Given the description of an element on the screen output the (x, y) to click on. 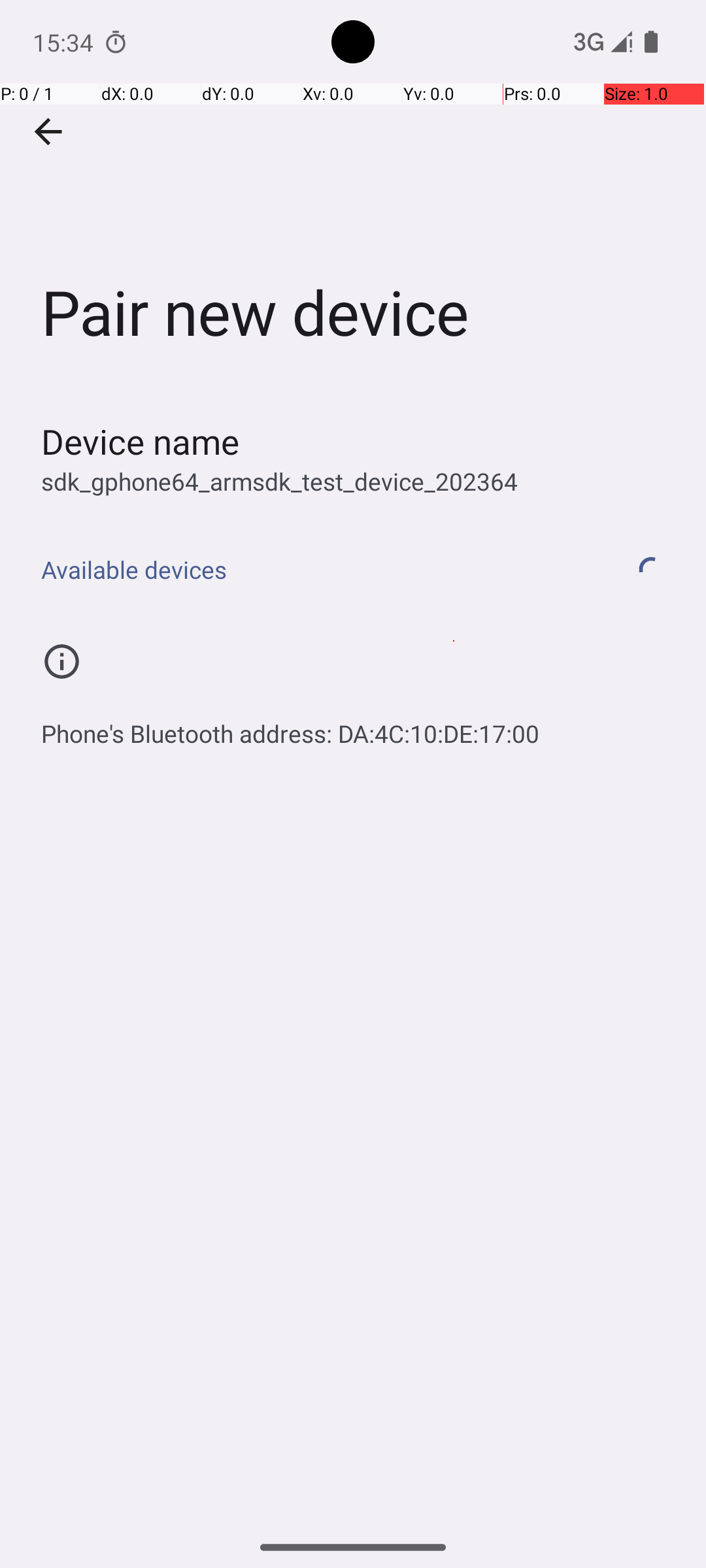
sdk_gphone64_armsdk_test_device_202364 Element type: android.widget.TextView (279, 480)
